Given the description of an element on the screen output the (x, y) to click on. 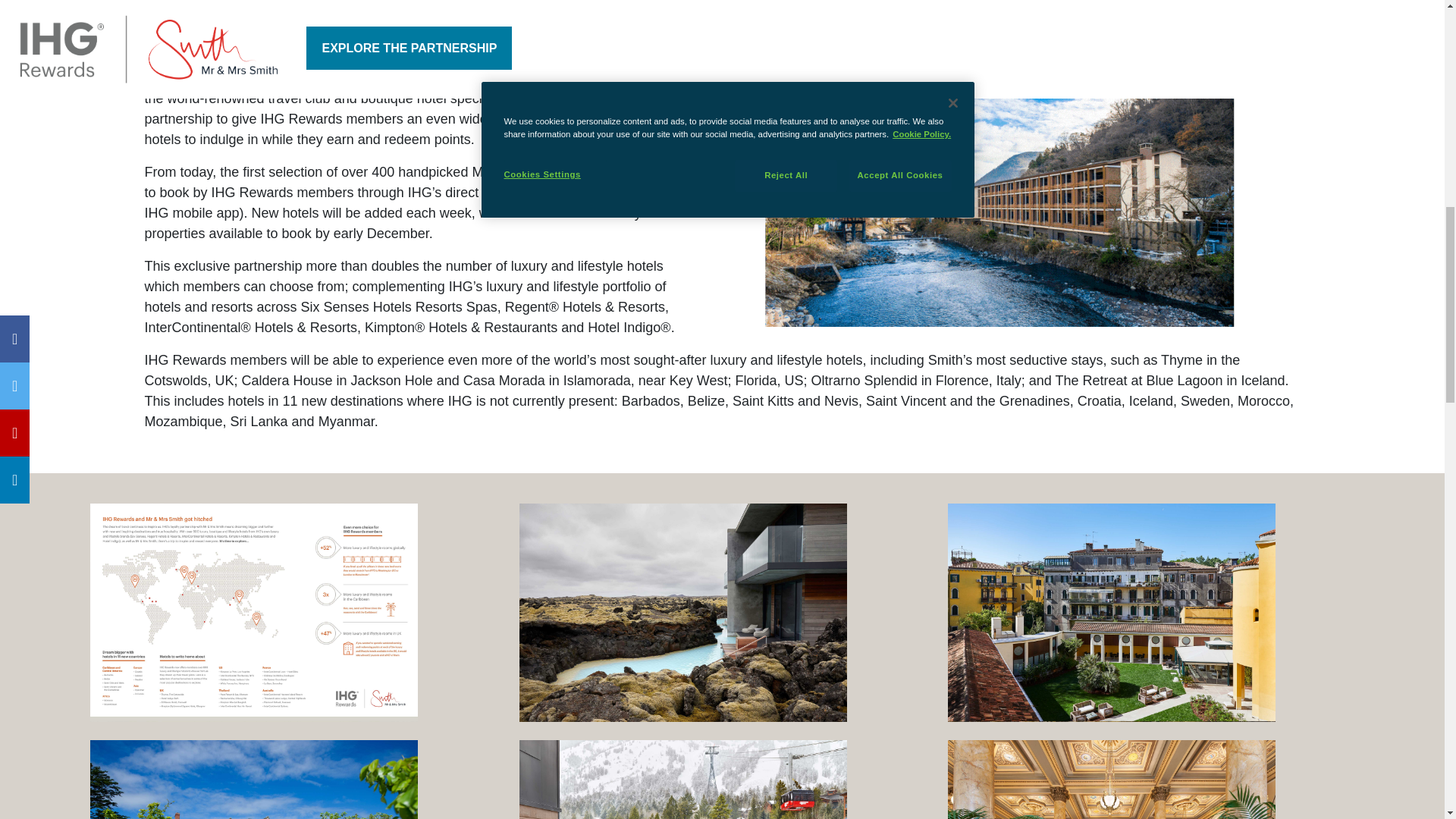
Gallery Image (1150, 779)
Gallery Image (293, 612)
Gallery Image (1150, 612)
Gallery Image (293, 779)
IHG.com (630, 192)
Gallery Image (722, 612)
Gallery Image (722, 779)
IHG.com (630, 192)
